Given the description of an element on the screen output the (x, y) to click on. 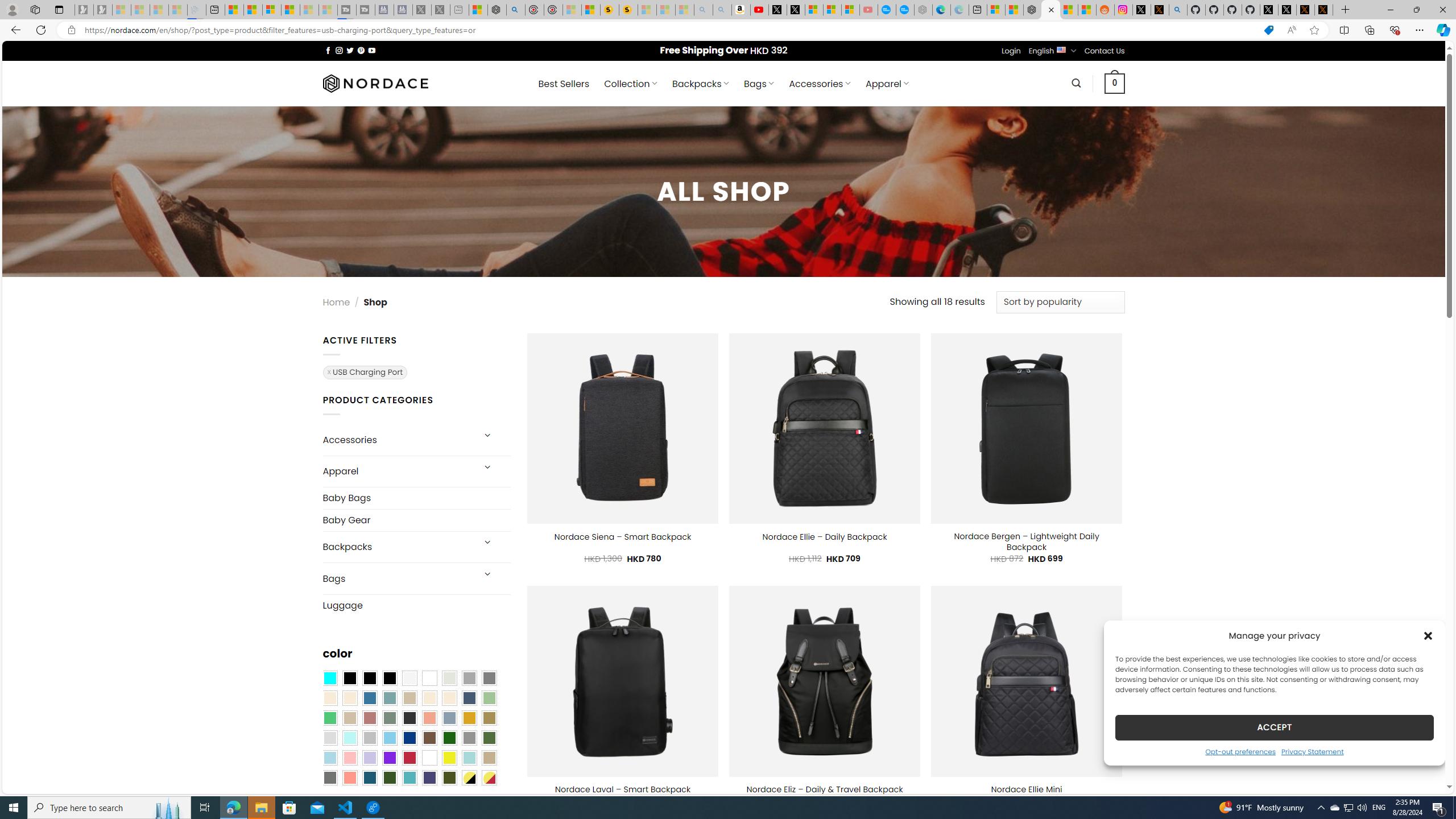
Pearly White (408, 678)
Dark Gray (468, 678)
All Gray (488, 678)
Minimize (1390, 9)
Hale Navy (468, 698)
Aqua Blue (329, 678)
Sky Blue (389, 737)
Gold (468, 717)
Back (13, 29)
help.x.com | 524: A timeout occurred (1159, 9)
Day 1: Arriving in Yemen (surreal to be here) - YouTube (759, 9)
Read aloud this page (Ctrl+Shift+U) (1291, 29)
Rose (369, 717)
